Given the description of an element on the screen output the (x, y) to click on. 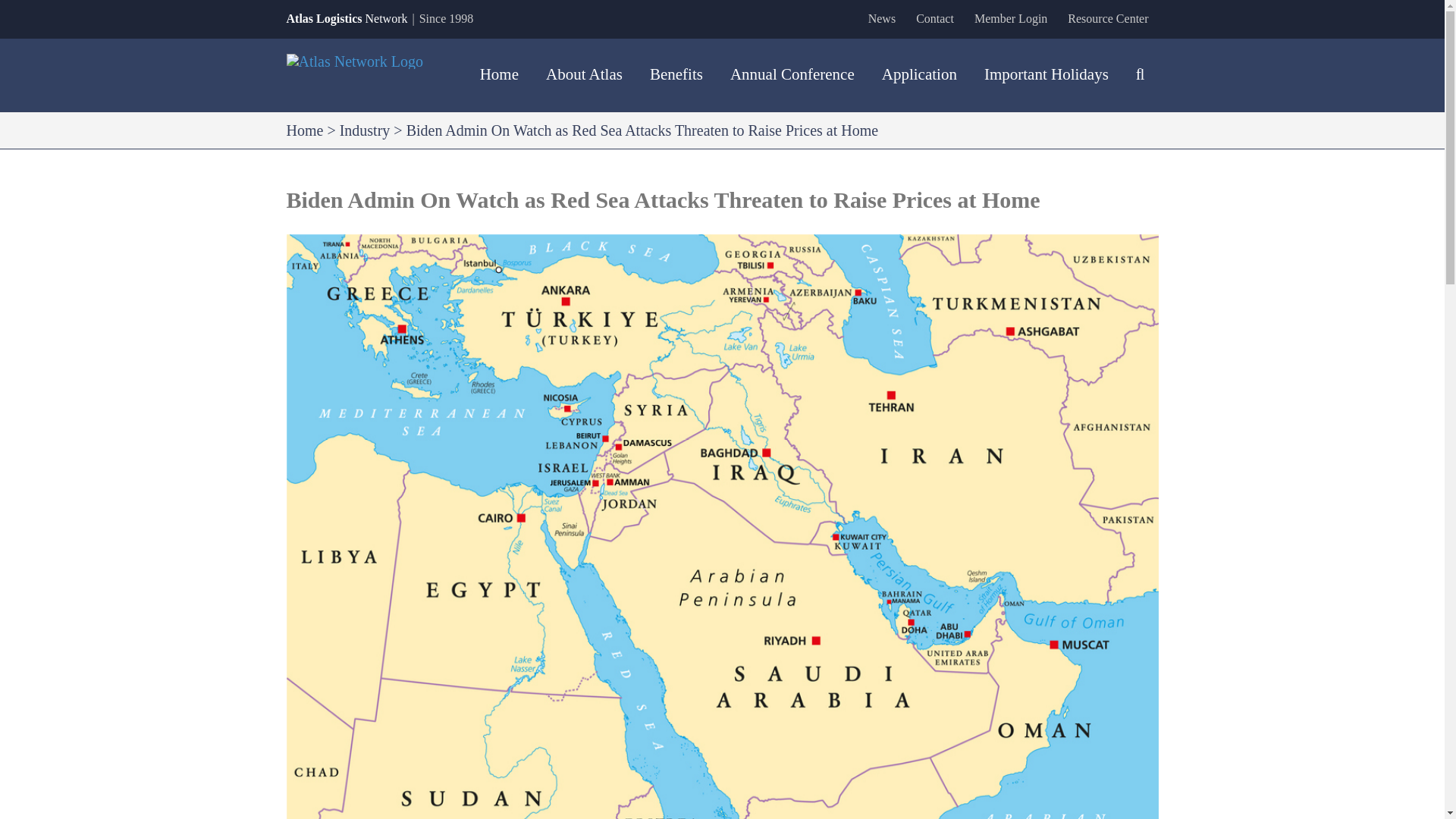
About Atlas (584, 74)
Home (498, 74)
Resource Center (1107, 18)
Important Holidays (1046, 74)
News (882, 18)
Annual Conference (791, 74)
Industry (364, 130)
Home (304, 130)
Member Login (1010, 18)
